Given the description of an element on the screen output the (x, y) to click on. 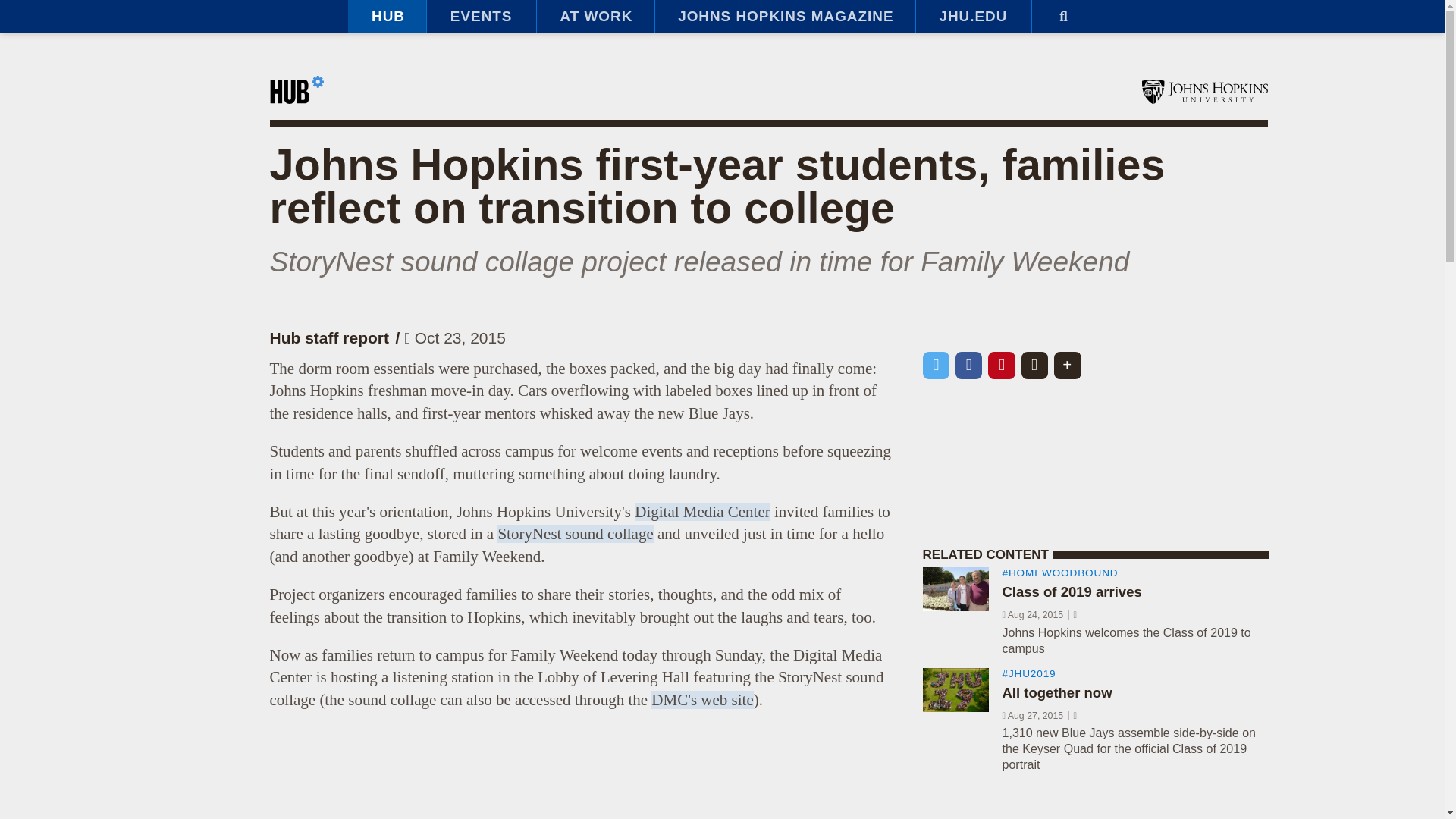
JOHNS HOPKINS MAGAZINE (784, 16)
Johns Hopkins University (1204, 91)
EVENTS (480, 16)
JHU.EDU (972, 16)
HUB (386, 16)
AT WORK (594, 16)
